Given the description of an element on the screen output the (x, y) to click on. 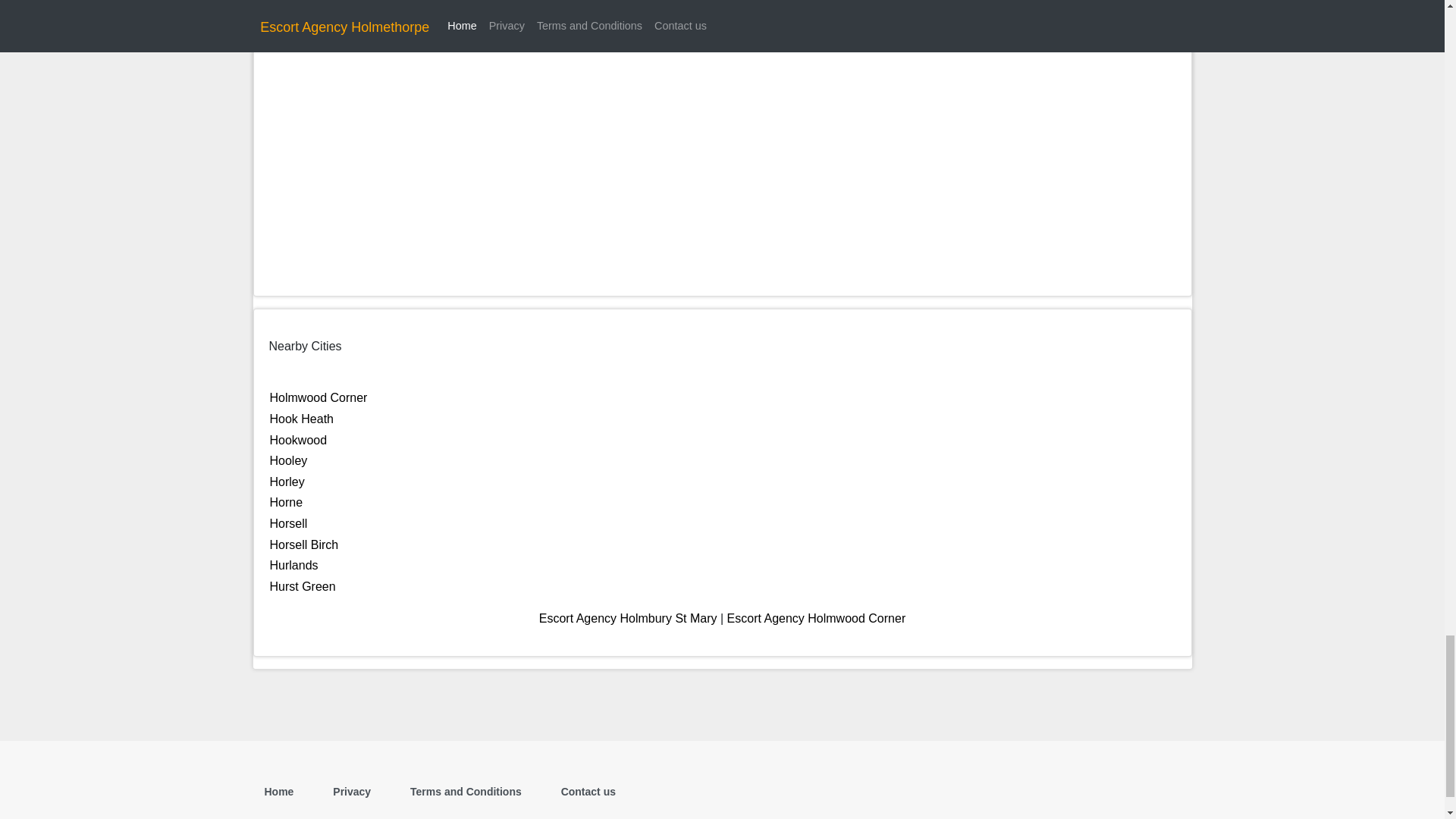
Escort Agency Holmwood Corner (815, 617)
Hook Heath (301, 418)
Horne (285, 502)
Horsell Birch (304, 544)
Hooley (288, 460)
Escort Agency Holmbury St Mary (627, 617)
Hurst Green (302, 585)
Hurlands (293, 564)
Horley (286, 481)
Hookwood (298, 440)
